Given the description of an element on the screen output the (x, y) to click on. 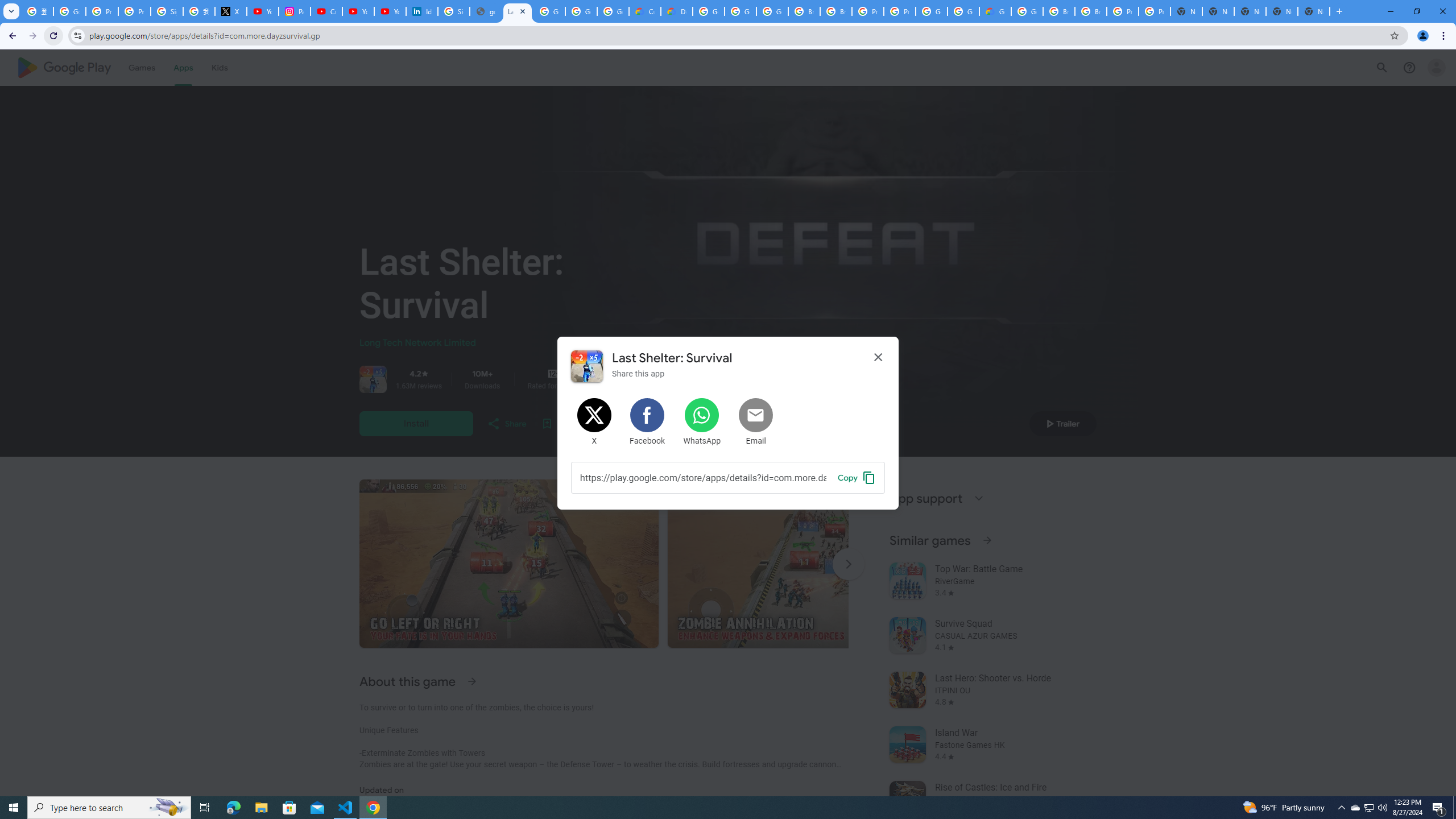
Share on X (formerly Twitter) (594, 421)
Google Workspace - Specific Terms (613, 11)
YouTube Culture & Trends - YouTube Top 10, 2021 (389, 11)
Privacy Help Center - Policies Help (101, 11)
Google Cloud Platform (708, 11)
